Given the description of an element on the screen output the (x, y) to click on. 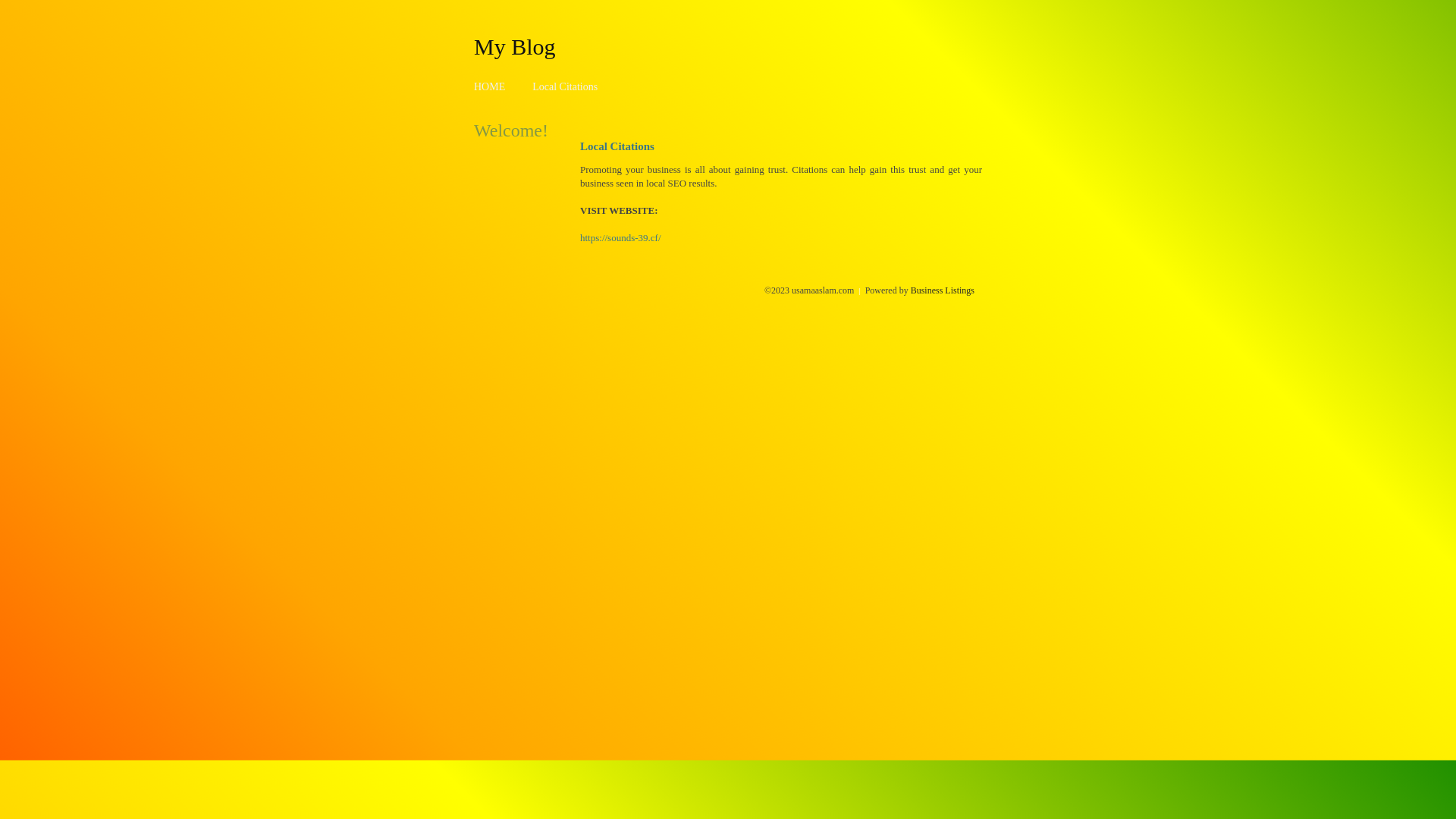
HOME Element type: text (489, 86)
https://sounds-39.cf/ Element type: text (620, 237)
Local Citations Element type: text (564, 86)
My Blog Element type: text (514, 46)
Business Listings Element type: text (942, 290)
